Given the description of an element on the screen output the (x, y) to click on. 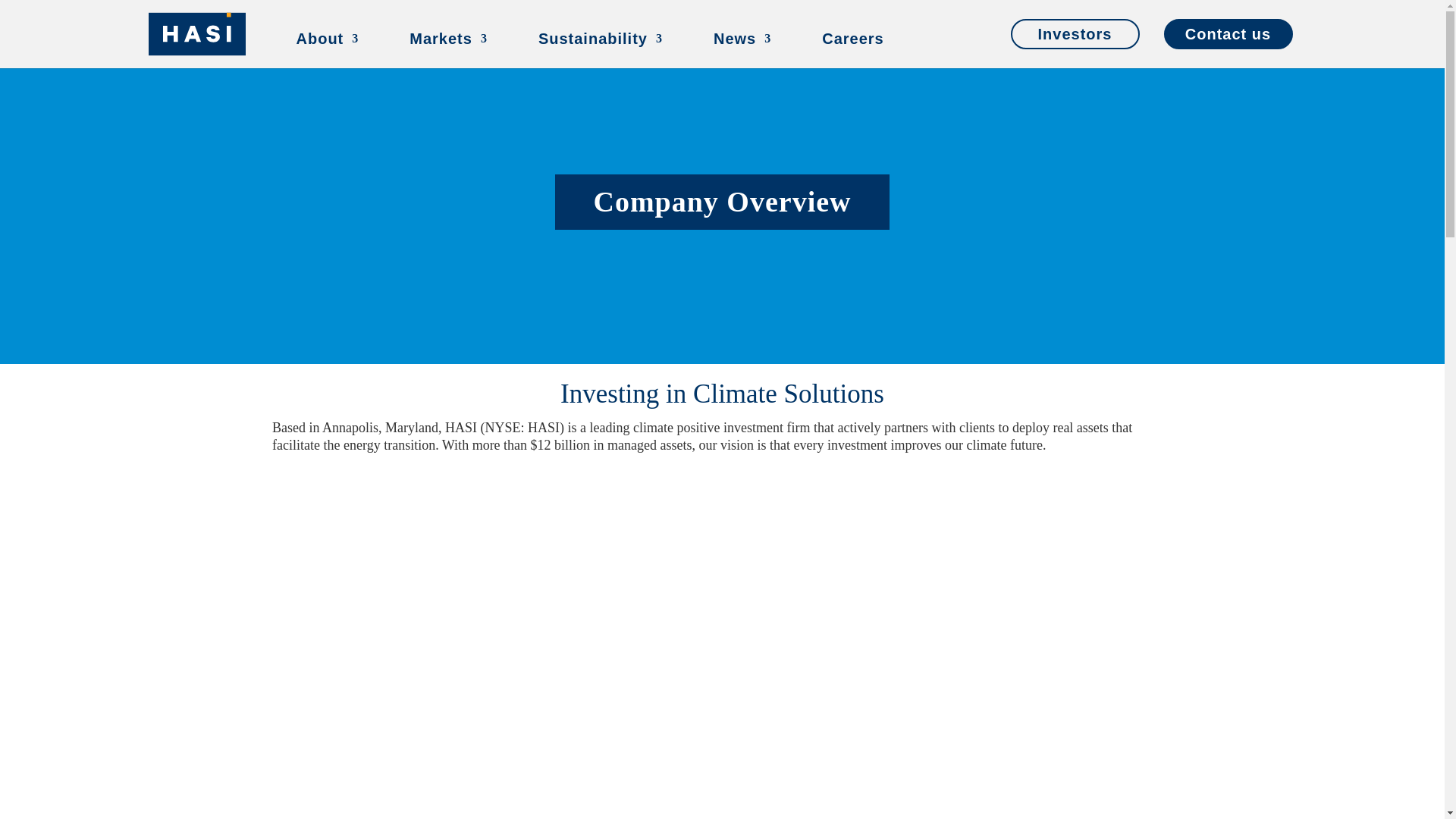
About (326, 50)
News (742, 50)
Markets (448, 50)
Contact us (1227, 33)
Investors (1074, 33)
Sustainability (600, 50)
Careers (852, 50)
